Given the description of an element on the screen output the (x, y) to click on. 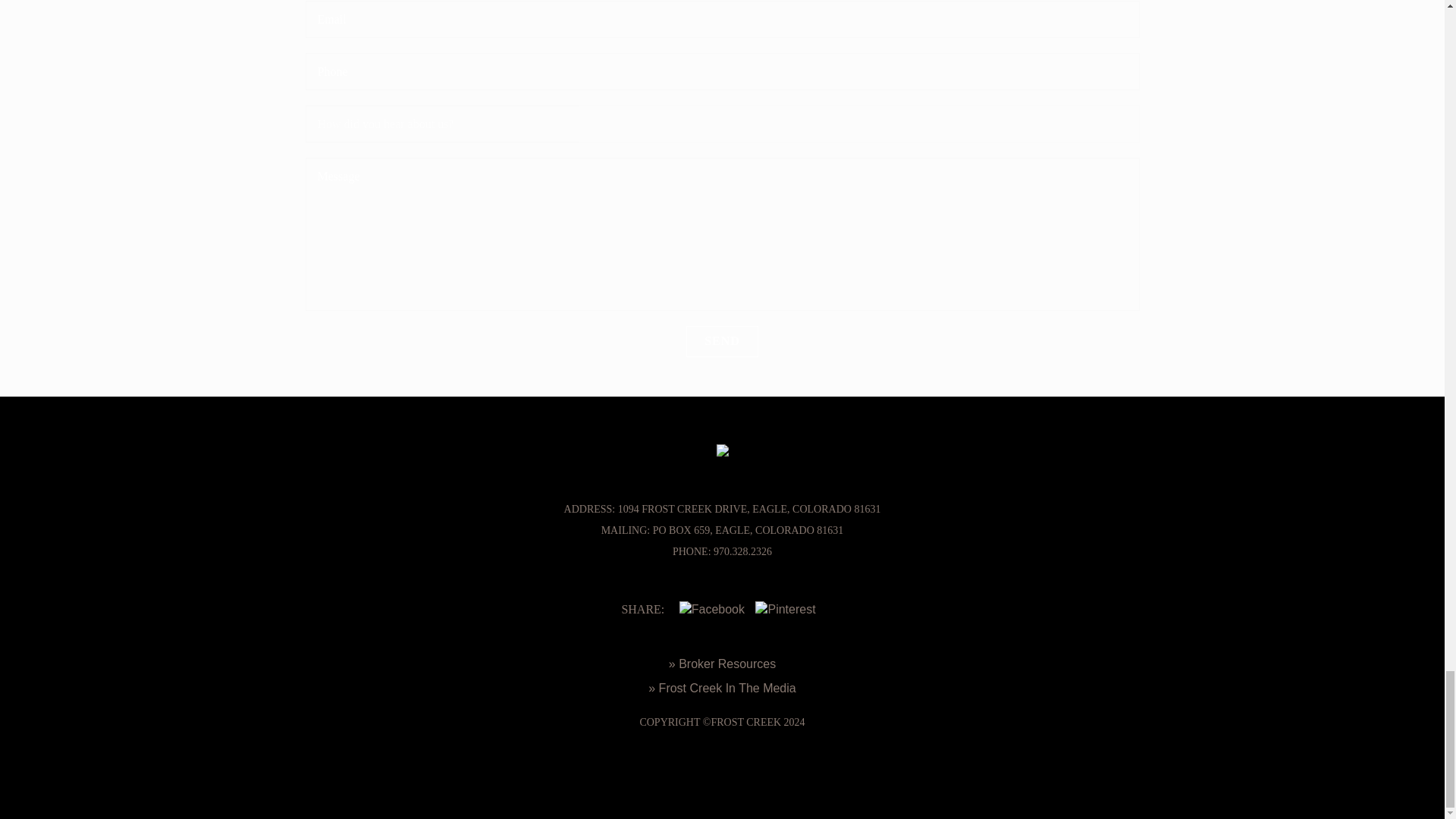
Send (721, 341)
ADDRESS: 1094 FROST CREEK DRIVE, EAGLE, COLORADO 81631 (722, 509)
Send (721, 341)
